Given the description of an element on the screen output the (x, y) to click on. 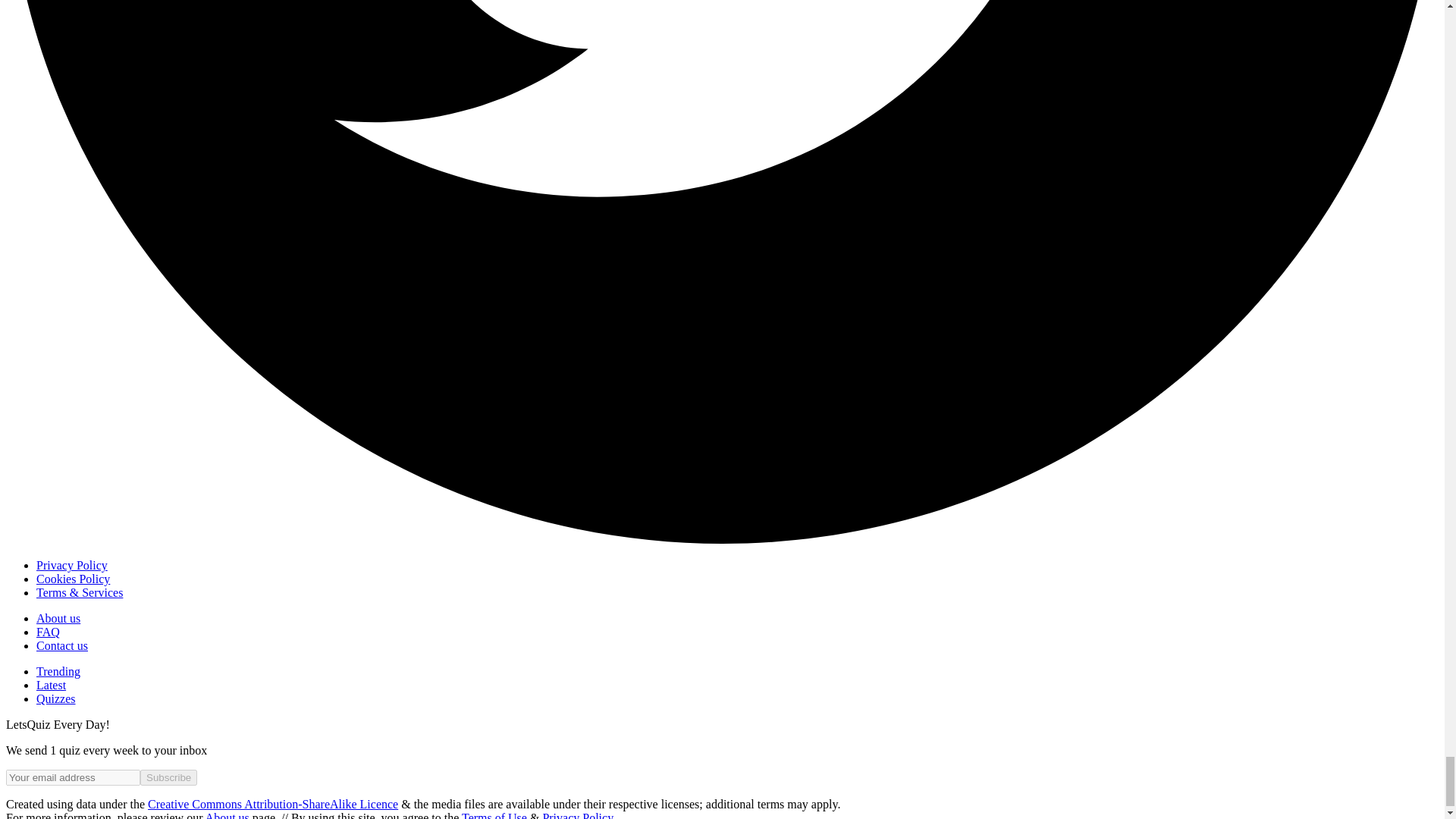
FAQ (47, 631)
Creative Commons Attribution-ShareAlike Licence (272, 803)
Latest (50, 684)
Trending (58, 671)
Contact us (61, 645)
Privacy Policy (71, 564)
Subscribe (167, 777)
Quizzes (55, 698)
Cookies Policy (73, 578)
About us (58, 617)
